Given the description of an element on the screen output the (x, y) to click on. 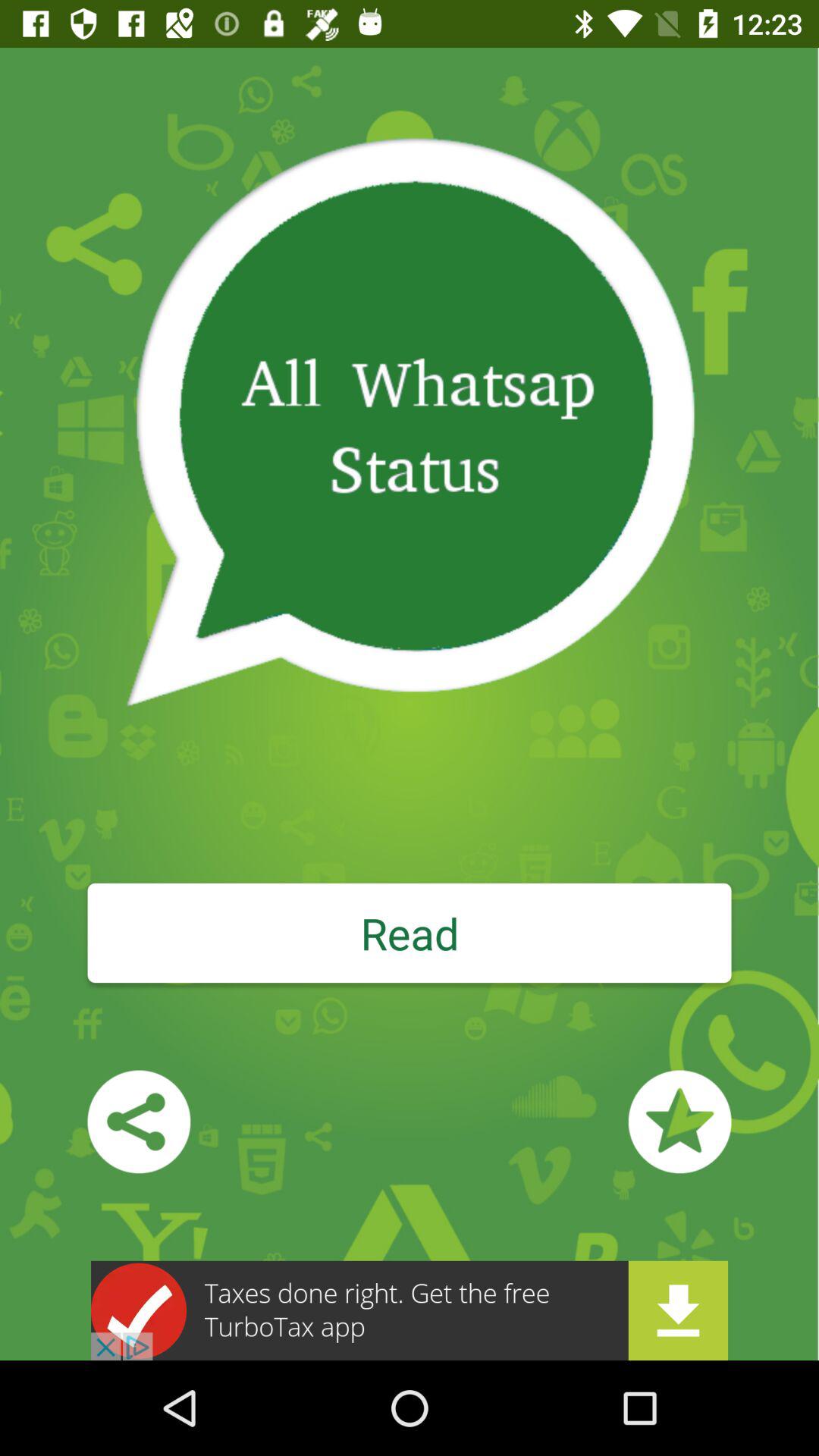
adverts (409, 1310)
